Given the description of an element on the screen output the (x, y) to click on. 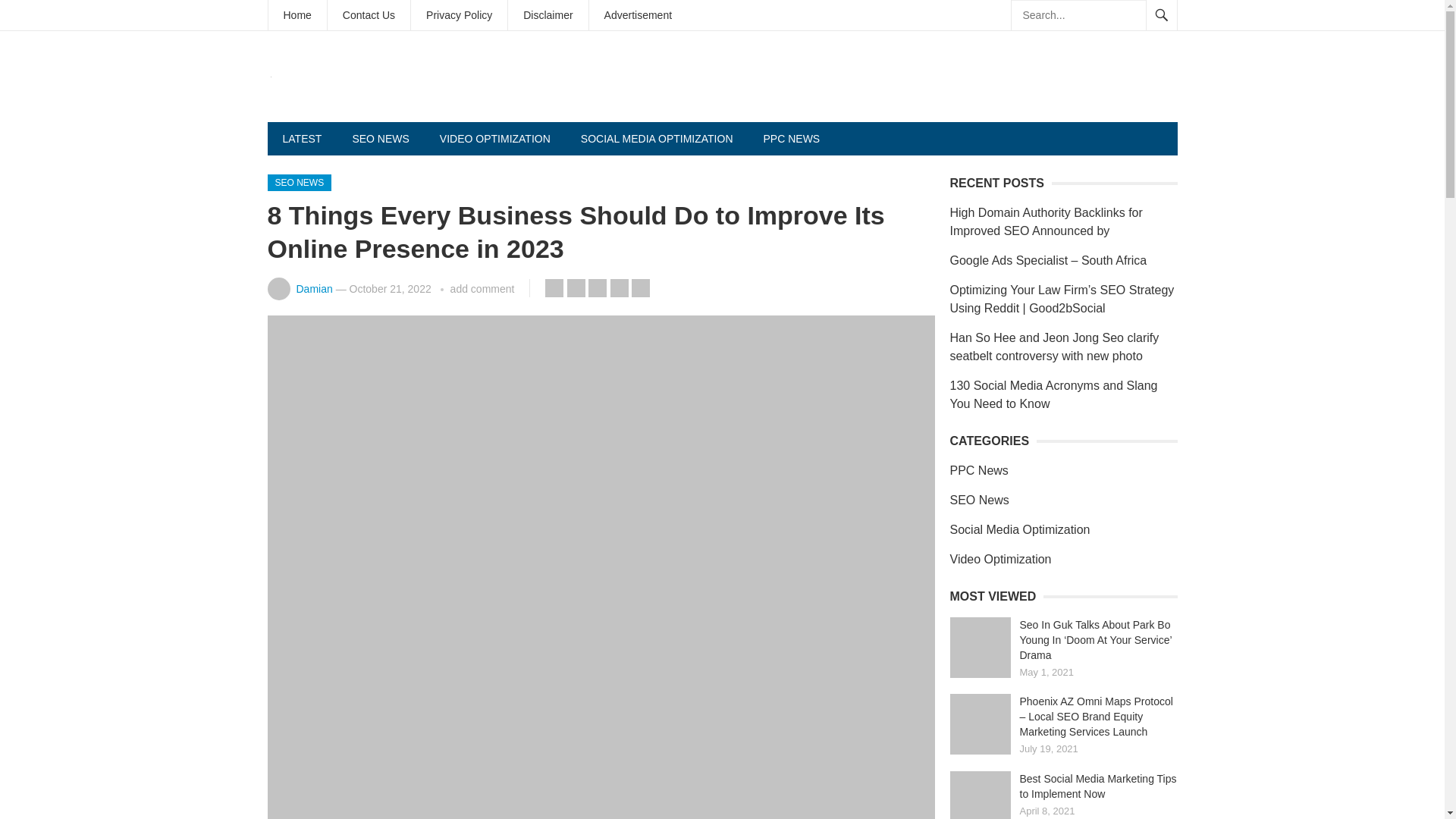
SEO NEWS (379, 138)
Home (296, 15)
Privacy Policy (458, 15)
VIDEO OPTIMIZATION (495, 138)
Best Social Media Marketing Tips to Implement Now (979, 794)
PPC NEWS (791, 138)
add comment (482, 288)
Damian (313, 288)
Posts by Damian (313, 288)
SEO NEWS (298, 182)
LATEST (301, 138)
View all posts in SEO News (298, 182)
Advertisement (638, 15)
Disclaimer (548, 15)
